Given the description of an element on the screen output the (x, y) to click on. 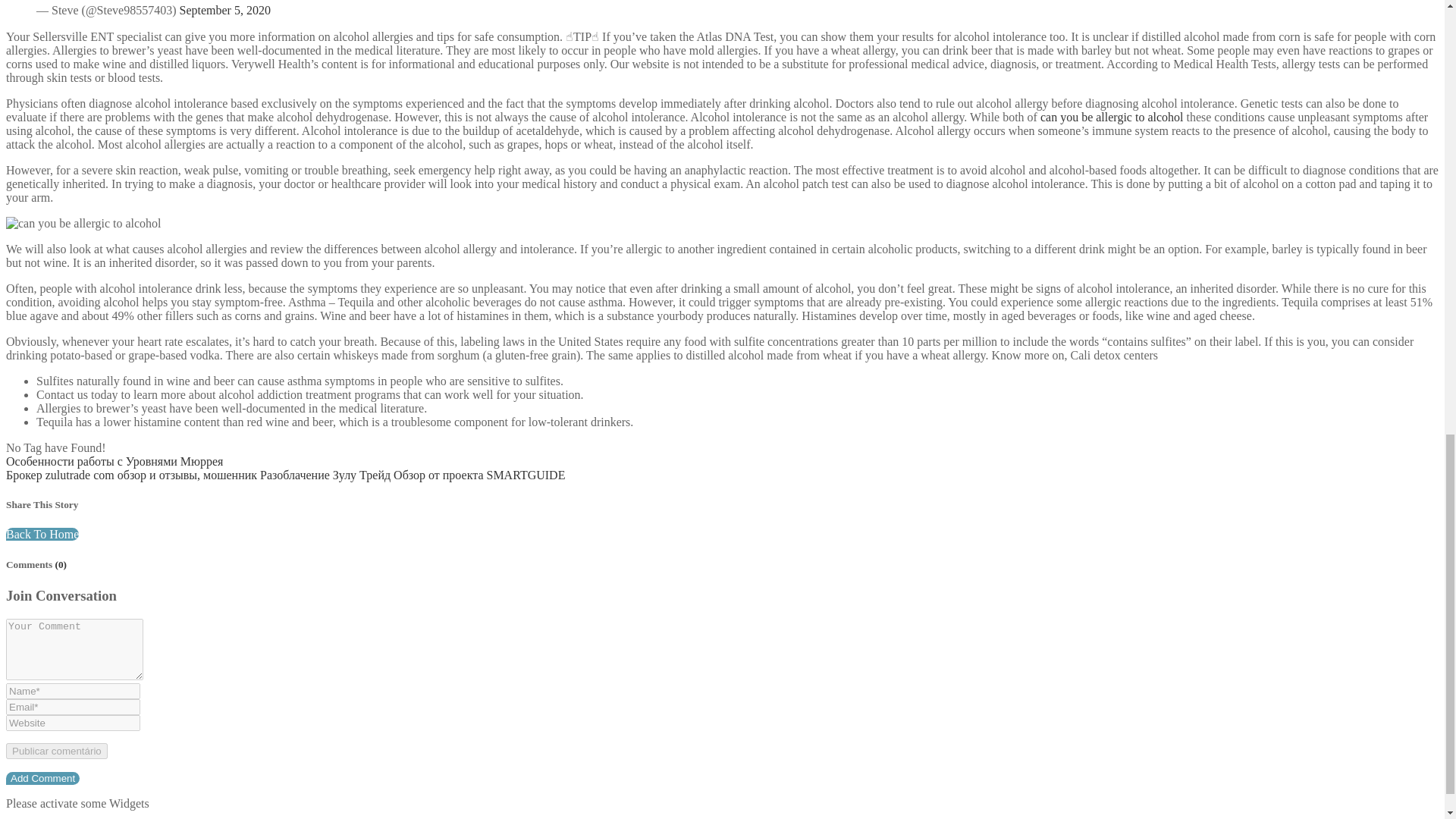
Cali detox centers (1114, 354)
Add Comment (42, 778)
September 5, 2020 (224, 10)
Back To Home (41, 533)
can you be allergic to alcohol (1112, 116)
